Given the description of an element on the screen output the (x, y) to click on. 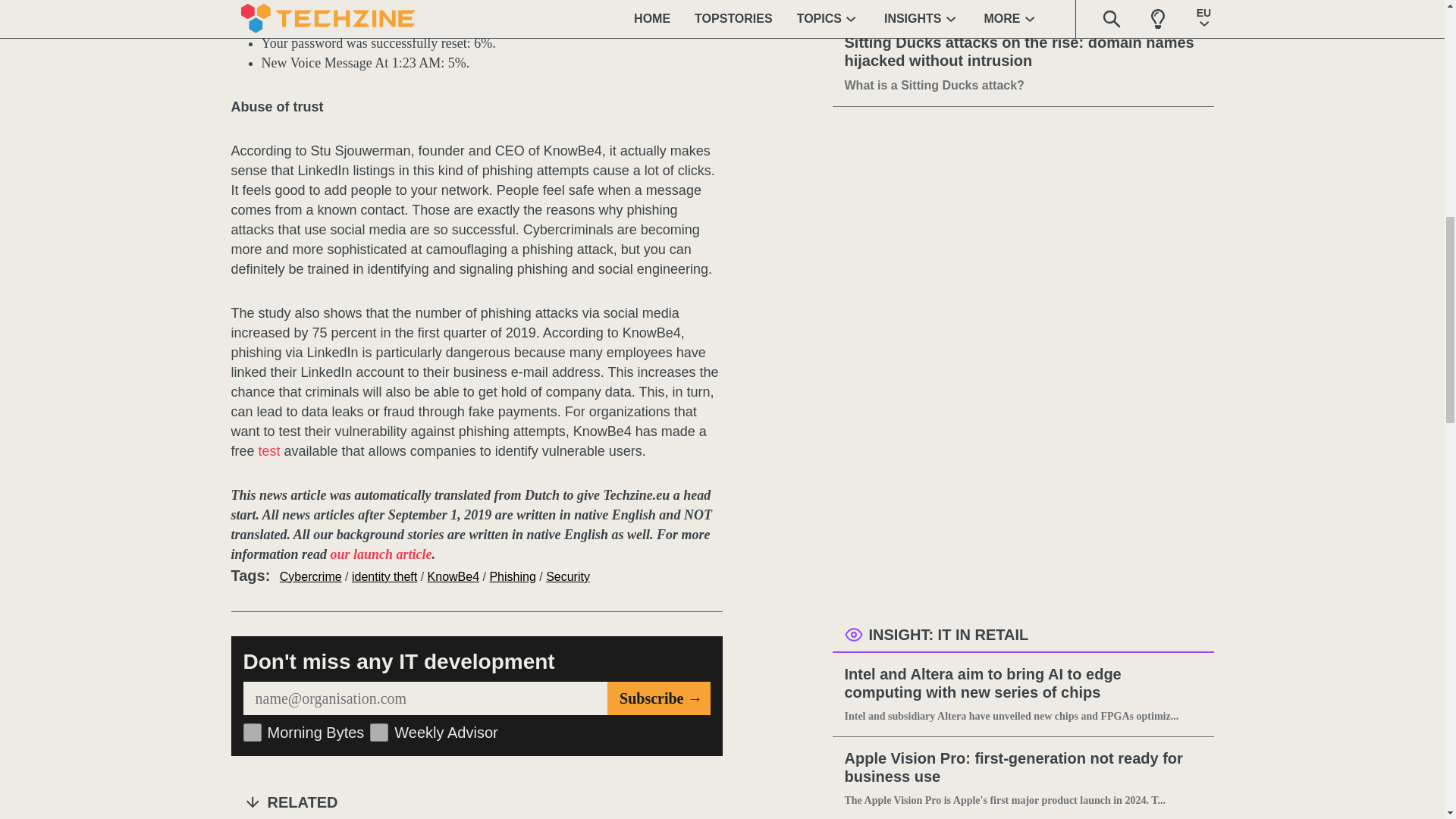
84623981521405447 (378, 732)
84623970802861205 (251, 732)
